Given the description of an element on the screen output the (x, y) to click on. 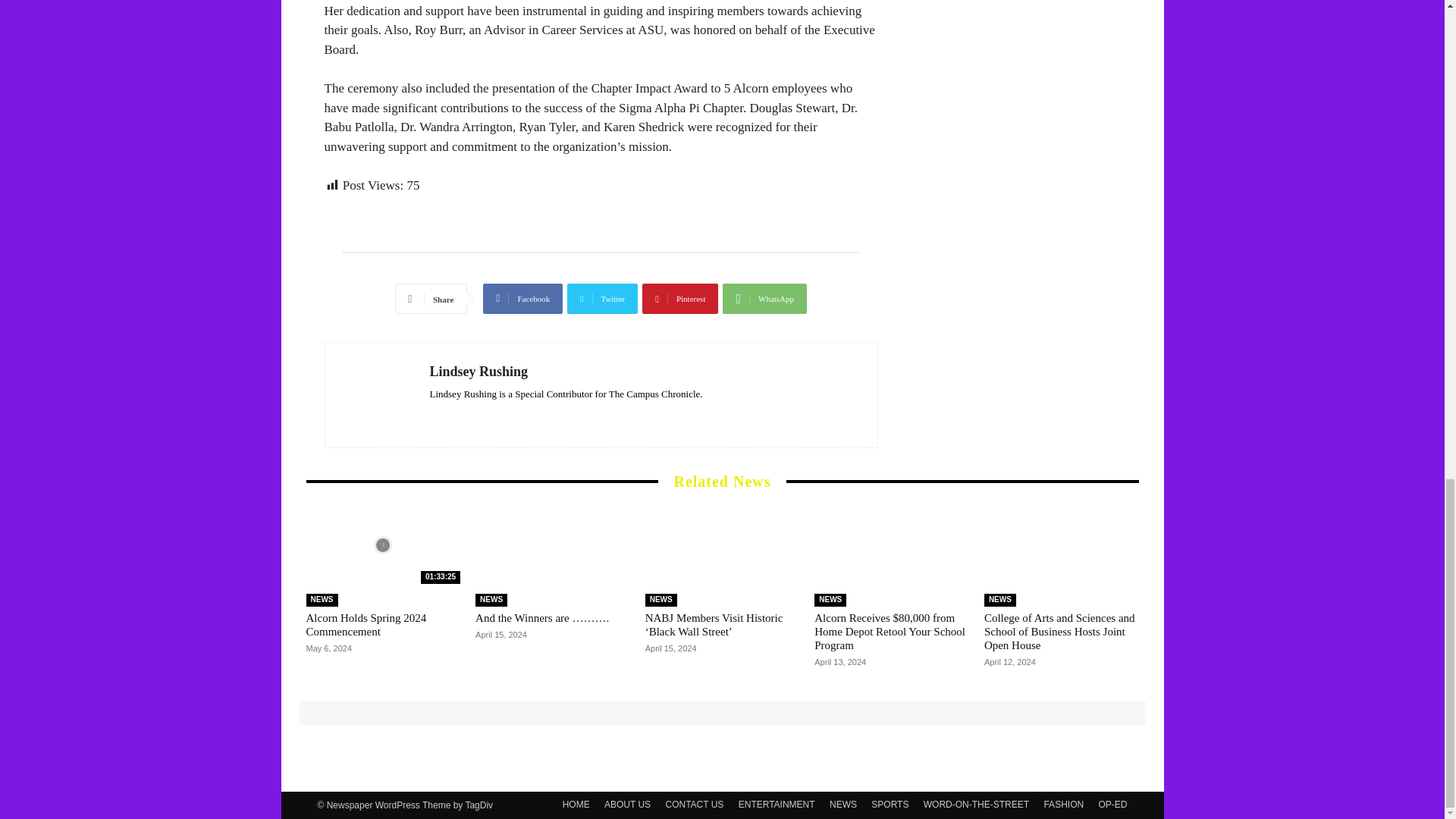
Facebook (522, 298)
Twitter (602, 298)
WhatsApp (764, 298)
Pinterest (679, 298)
